Given the description of an element on the screen output the (x, y) to click on. 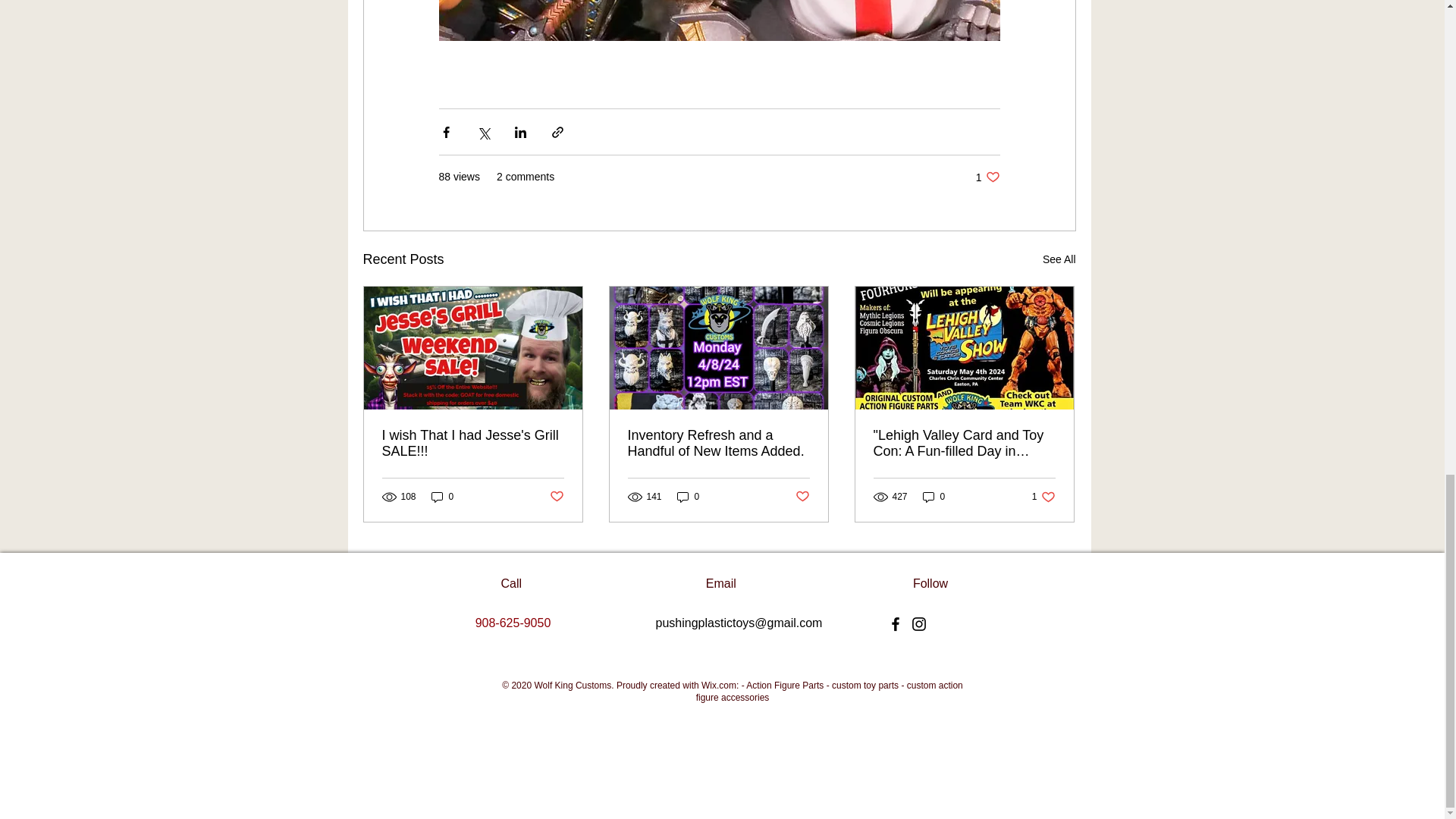
See All (1058, 259)
Post not marked as liked (987, 176)
I wish That I had Jesse's Grill SALE!!! (555, 496)
0 (472, 443)
